Given the description of an element on the screen output the (x, y) to click on. 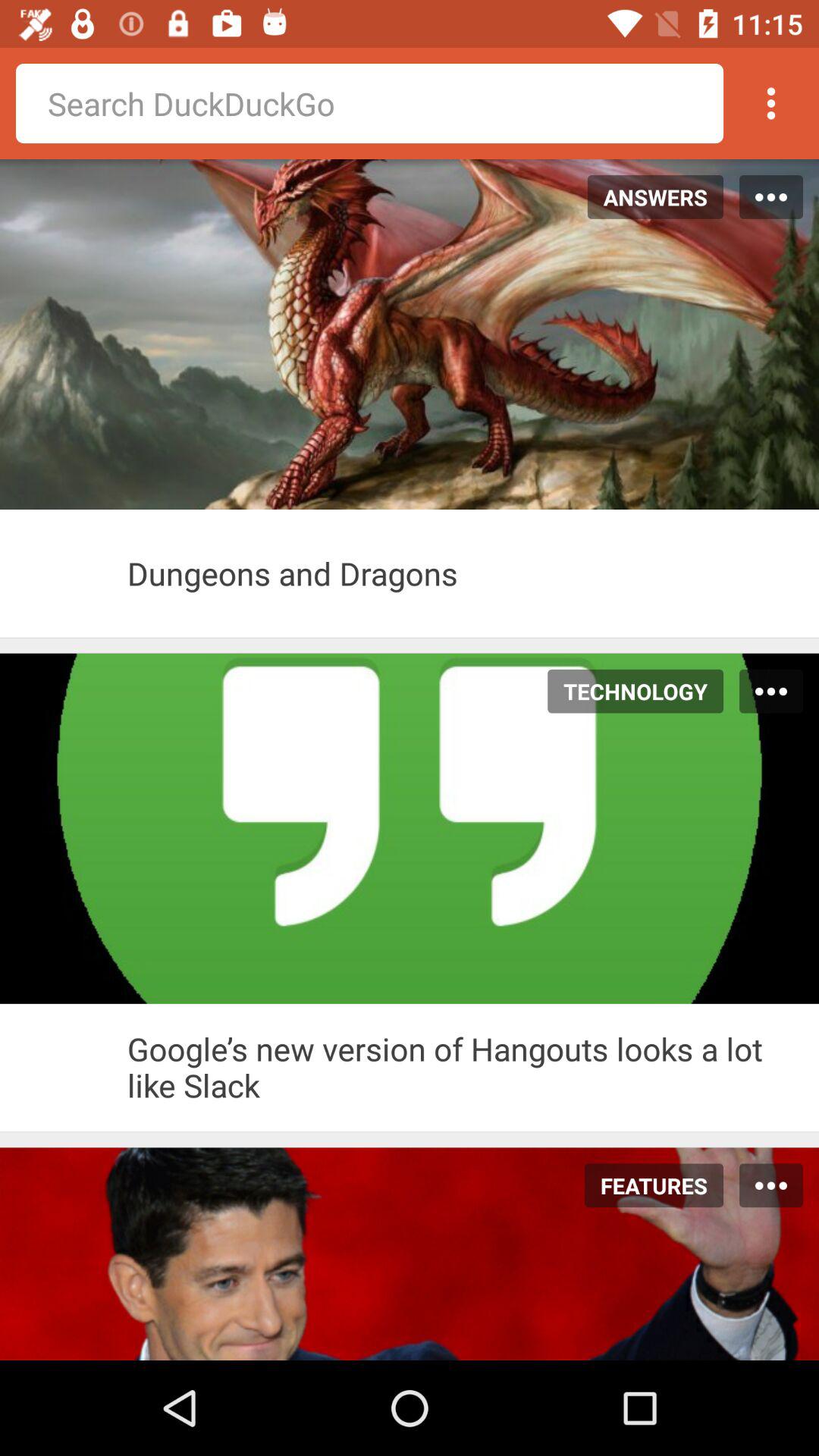
select other options (771, 103)
